Given the description of an element on the screen output the (x, y) to click on. 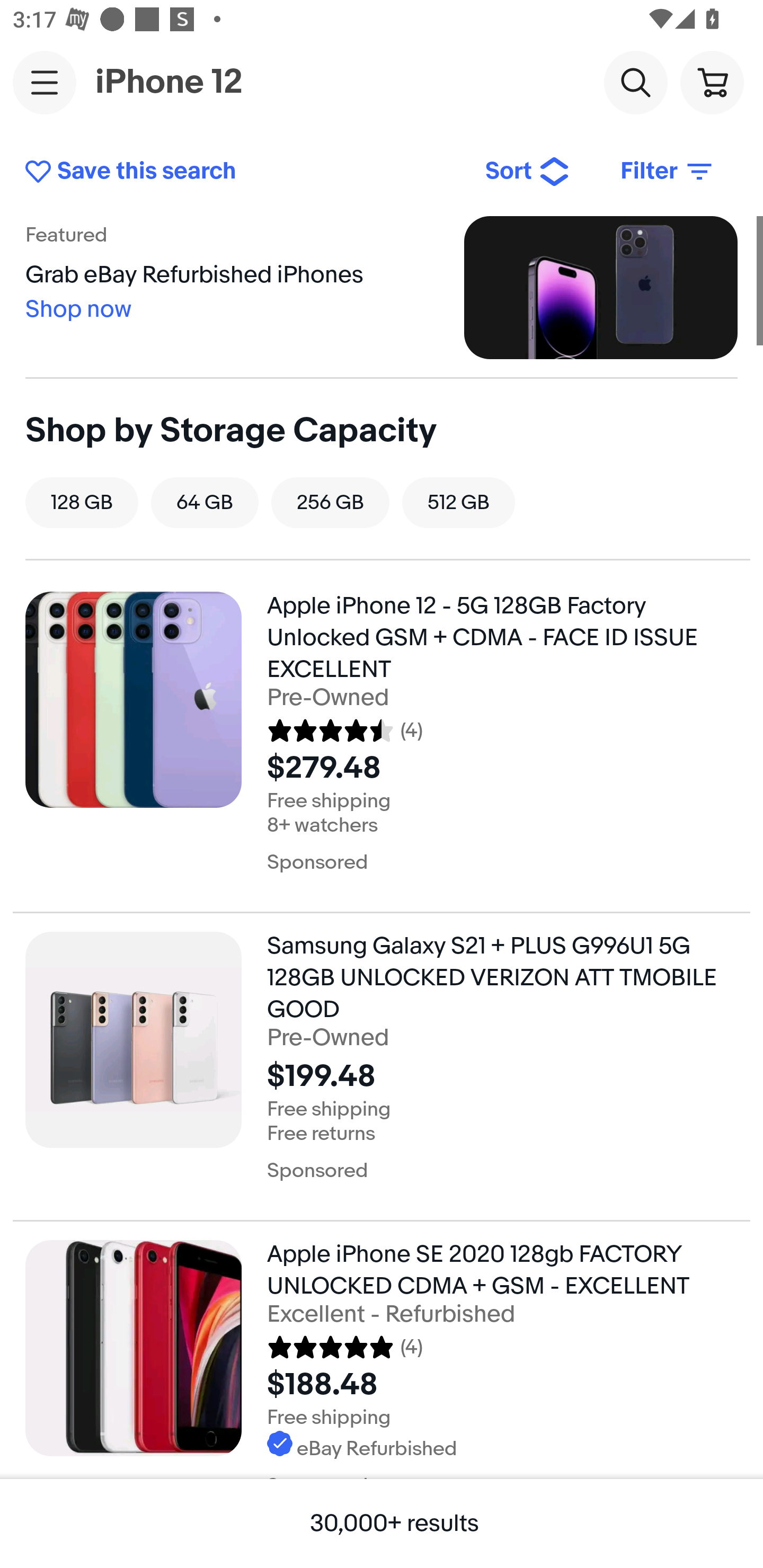
Main navigation, open (44, 82)
Search (635, 81)
Cart button shopping cart (711, 81)
Save this search (241, 171)
Sort (527, 171)
Filter (667, 171)
Featured Grab eBay Refurbished iPhones Shop now (381, 287)
128 GB 128 GB, Storage Capacity (81, 502)
64 GB 64 GB, Storage Capacity (204, 502)
256 GB 256 GB, Storage Capacity (330, 502)
512 GB 512 GB, Storage Capacity (458, 502)
